Given the description of an element on the screen output the (x, y) to click on. 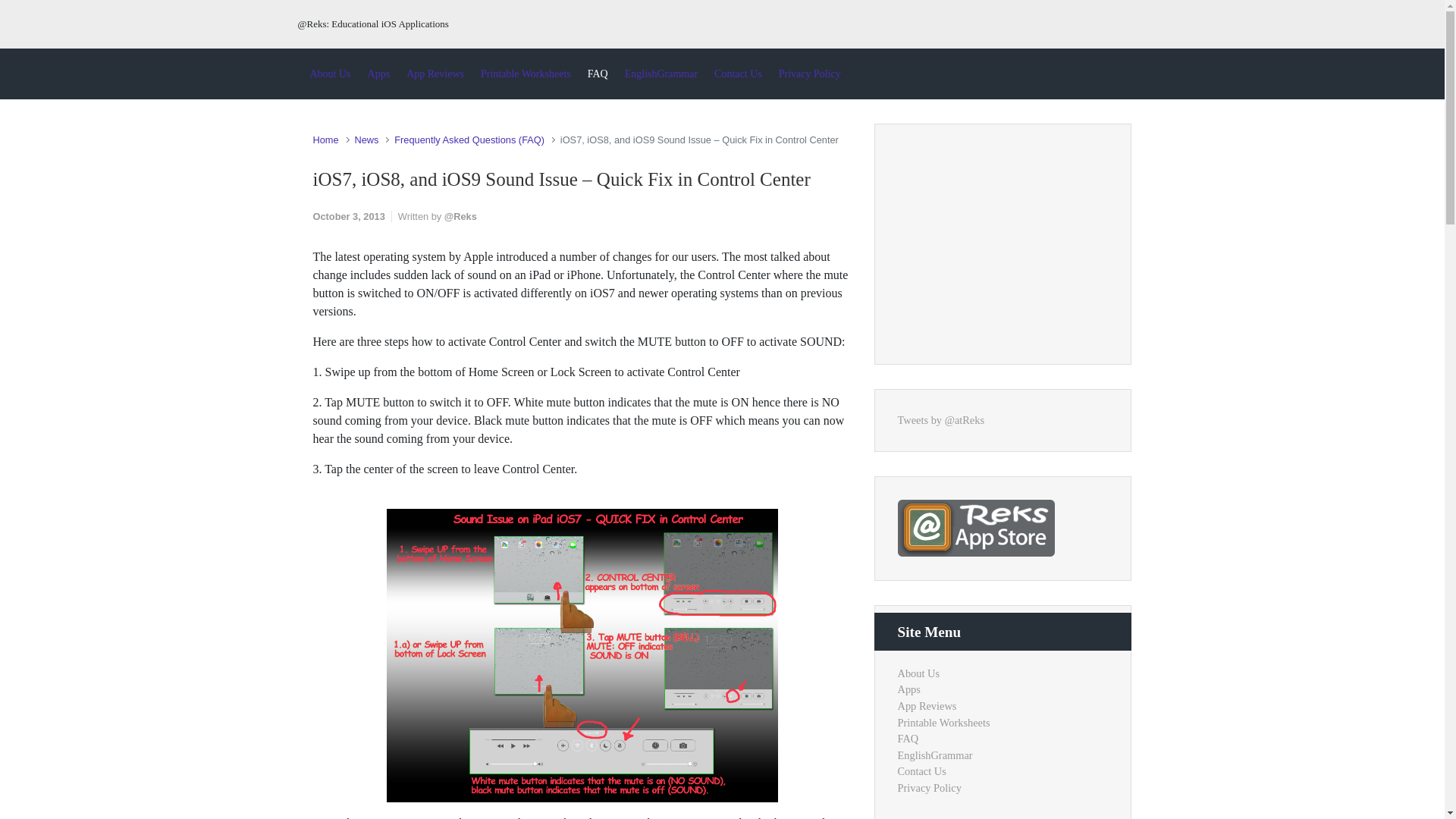
About Us (329, 73)
EnglishGrammar (660, 73)
Advertisement (1011, 241)
Printable Worksheets (525, 73)
Contact Us (737, 73)
Home (325, 139)
App Reviews (435, 73)
Privacy Policy (810, 73)
Apps (378, 73)
News (365, 139)
News (365, 139)
